Given the description of an element on the screen output the (x, y) to click on. 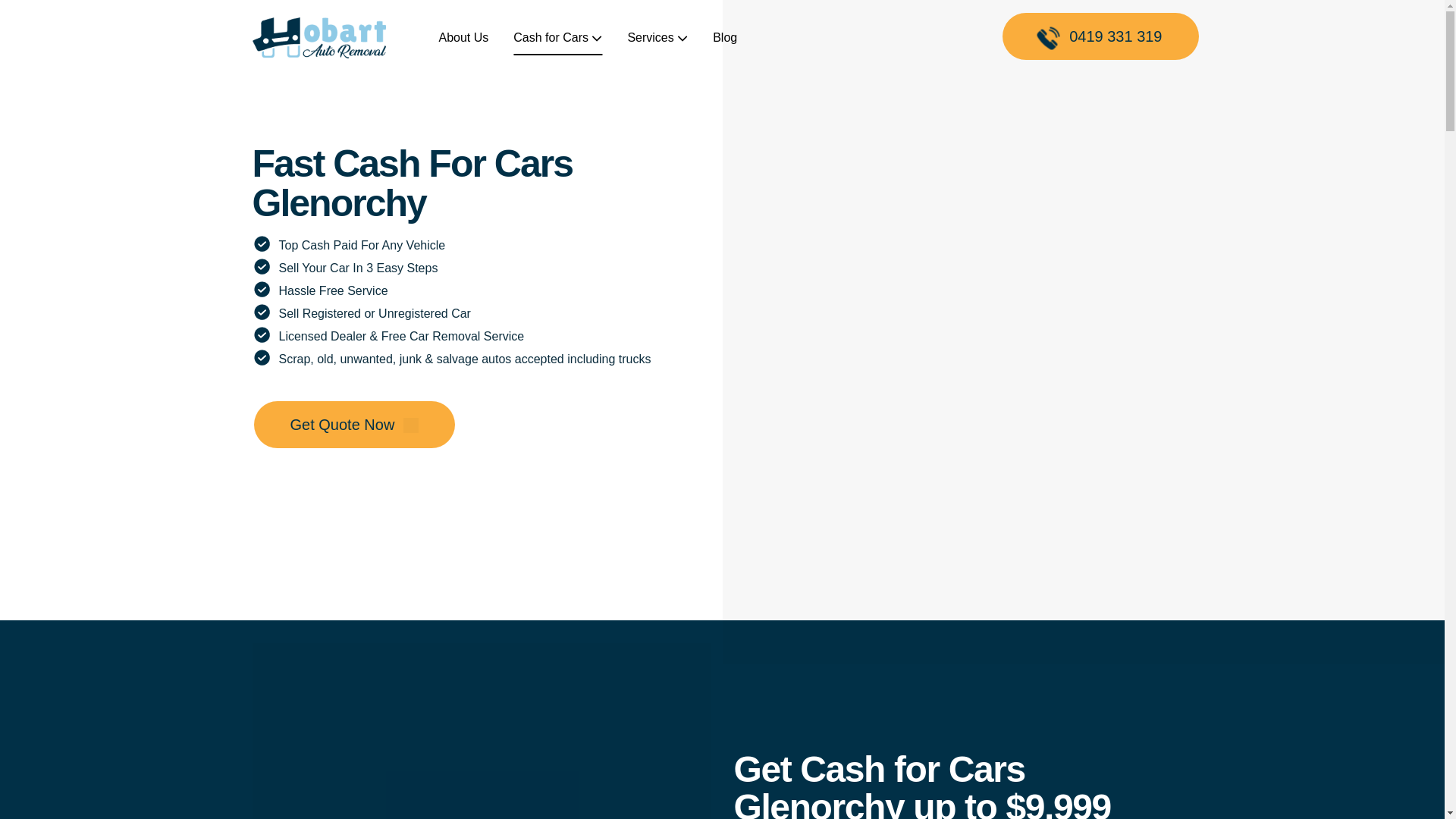
Hobart Auto Removals Element type: hover (318, 37)
0419 331 319 Element type: text (1100, 35)
Cash for Cars Element type: text (557, 37)
Services Element type: text (657, 37)
Blog Element type: text (724, 37)
Get Quote Now Element type: text (353, 424)
About Us Element type: text (463, 37)
